Given the description of an element on the screen output the (x, y) to click on. 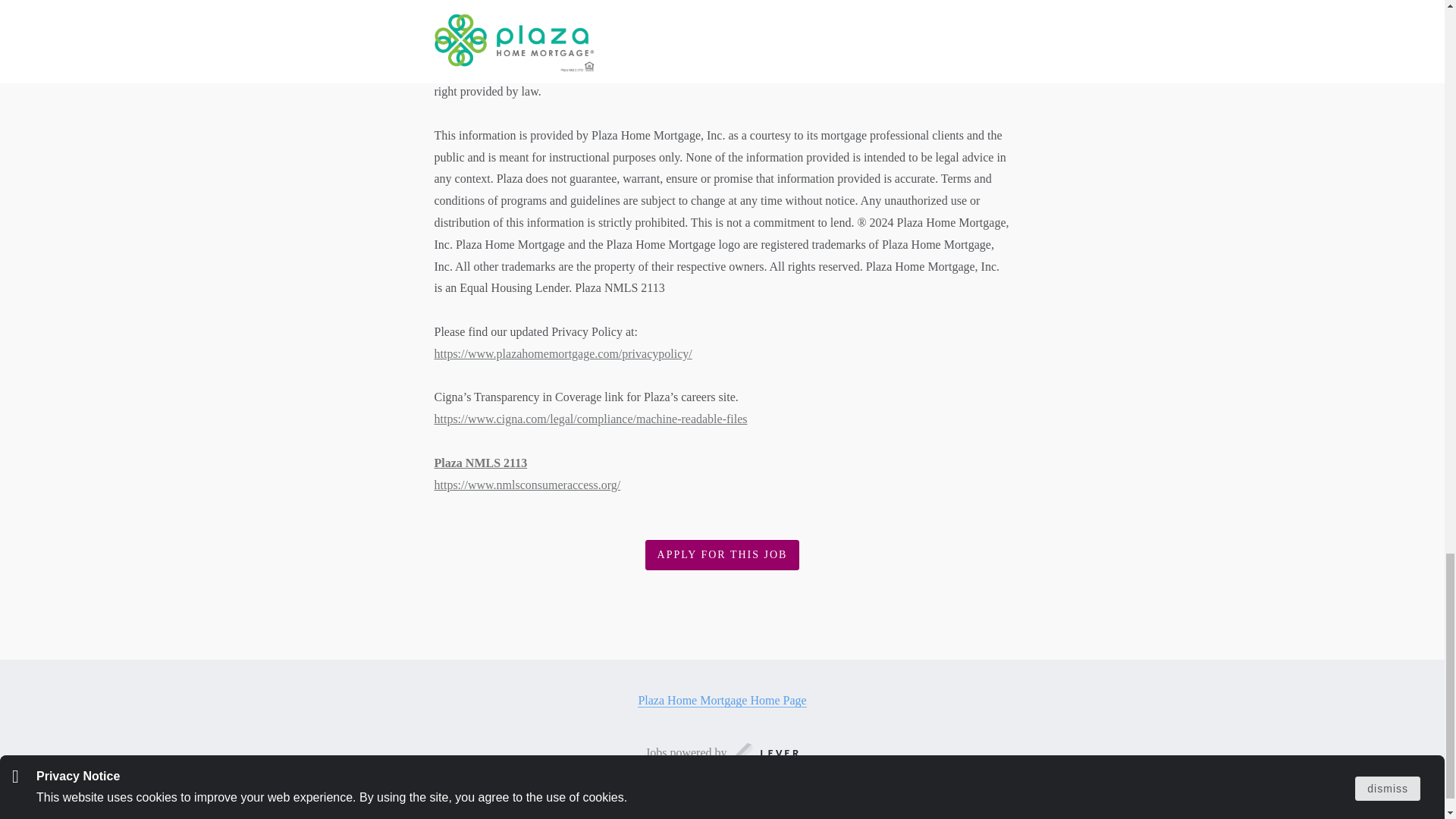
Plaza NMLS 2113 (480, 462)
Jobs powered by (722, 753)
APPLY FOR THIS JOB (722, 554)
Plaza Home Mortgage Home Page (721, 700)
